Given the description of an element on the screen output the (x, y) to click on. 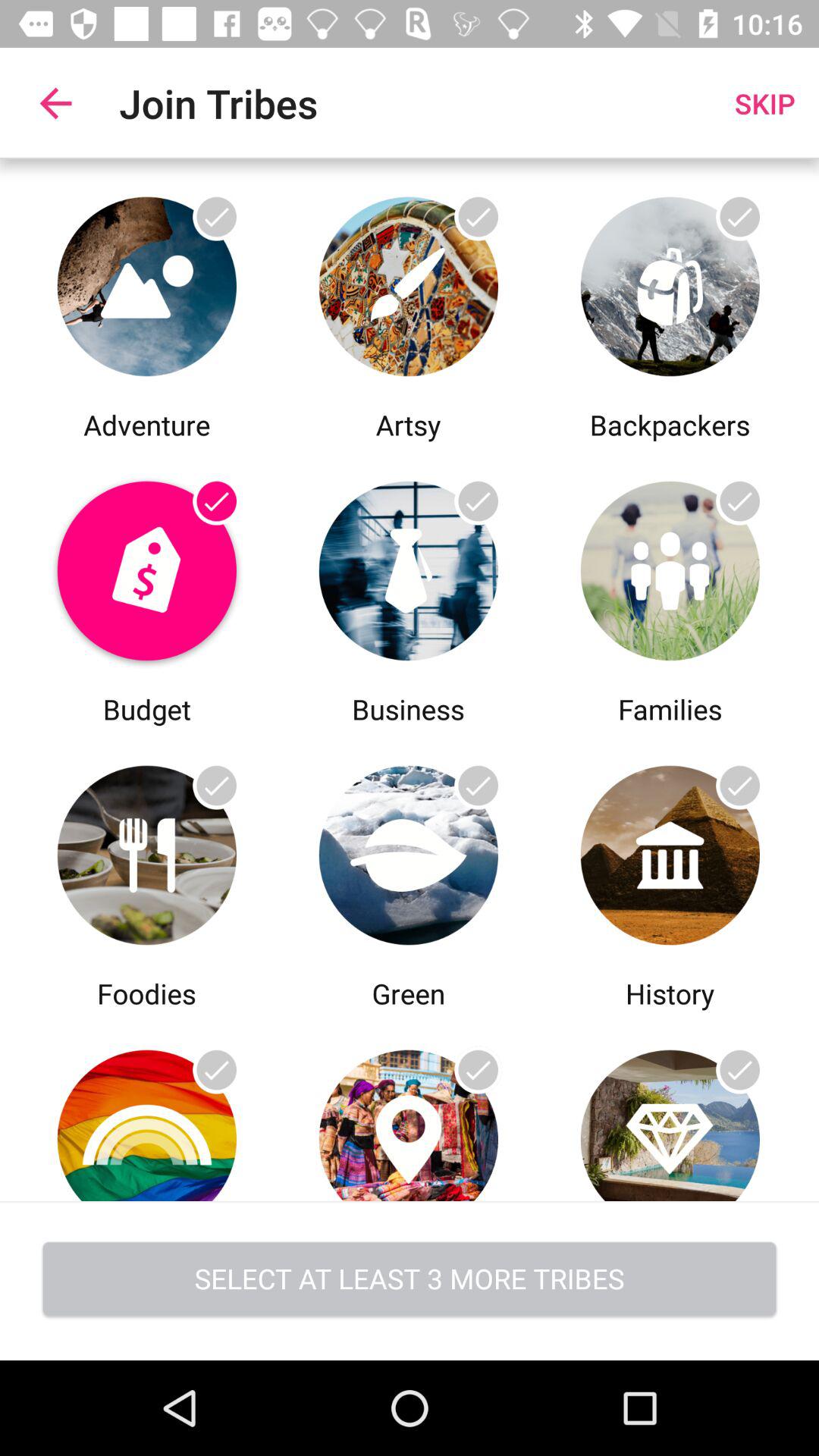
open the select at least icon (409, 1280)
